Given the description of an element on the screen output the (x, y) to click on. 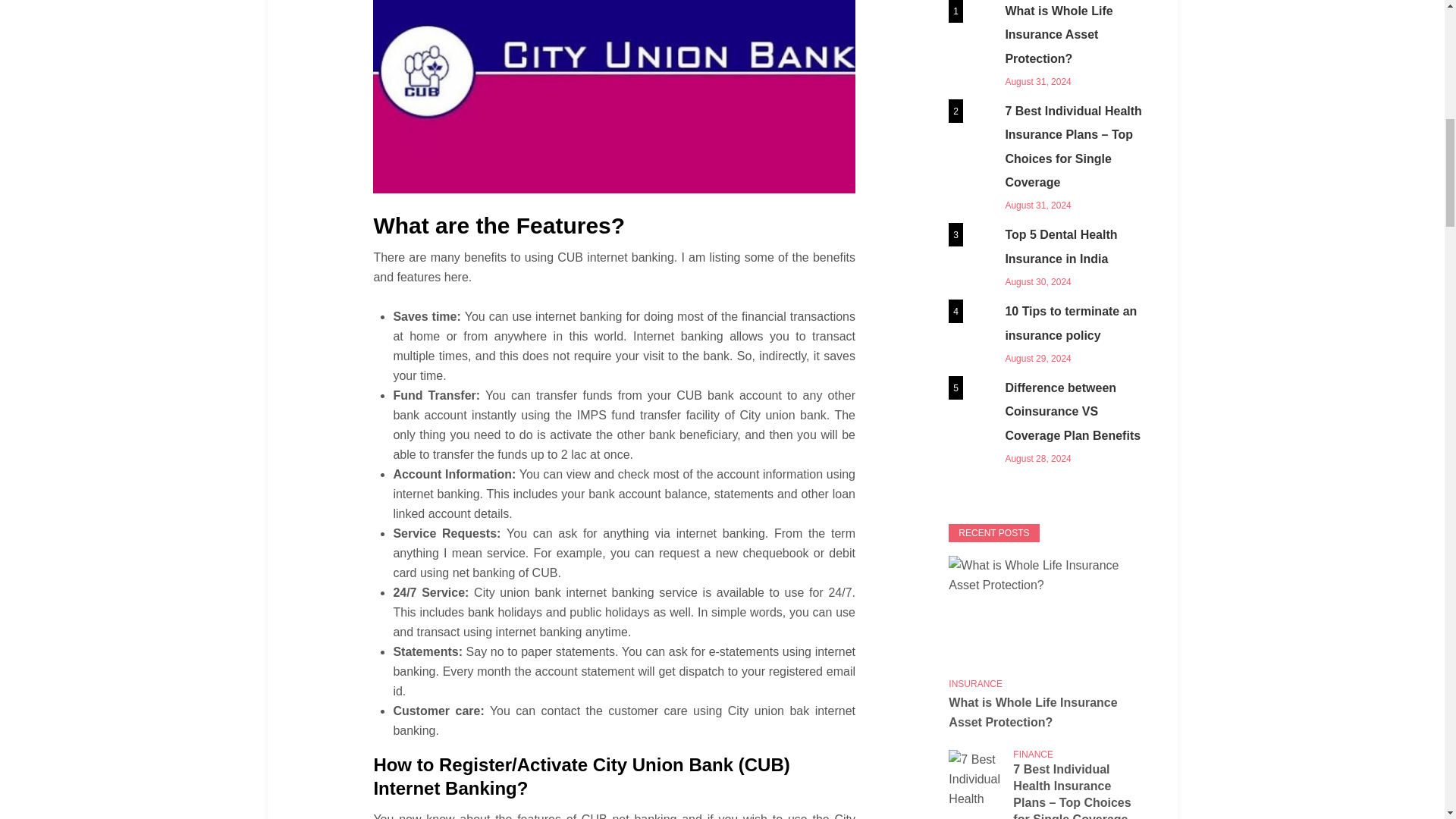
Top 5 Dental Health Insurance in India (1045, 256)
Difference between Coinsurance VS Coverage Plan Benefits (1045, 421)
10 Tips to terminate an insurance policy (1045, 333)
What is Whole Life Insurance Asset Protection? (1045, 45)
